Given the description of an element on the screen output the (x, y) to click on. 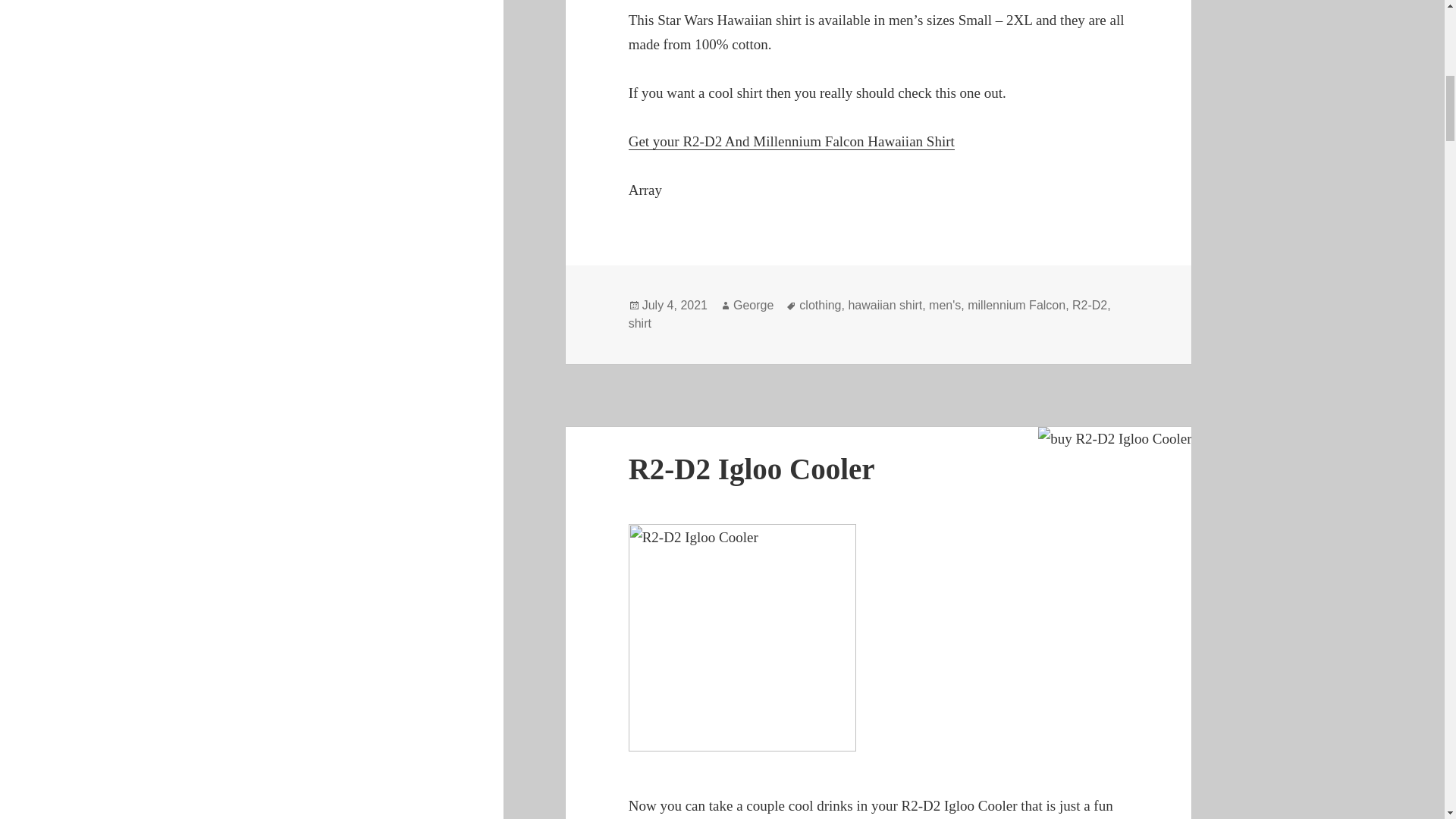
R2-D2 (1088, 305)
buy R2-D2 Igloo Cooler (1114, 438)
millennium Falcon (1016, 305)
men's (944, 305)
clothing (820, 305)
shirt (639, 323)
R2-D2 Igloo Cooler (751, 468)
July 4, 2021 (674, 305)
George (753, 305)
hawaiian shirt (884, 305)
Get your R2-D2 And Millennium Falcon Hawaiian Shirt (791, 141)
